Given the description of an element on the screen output the (x, y) to click on. 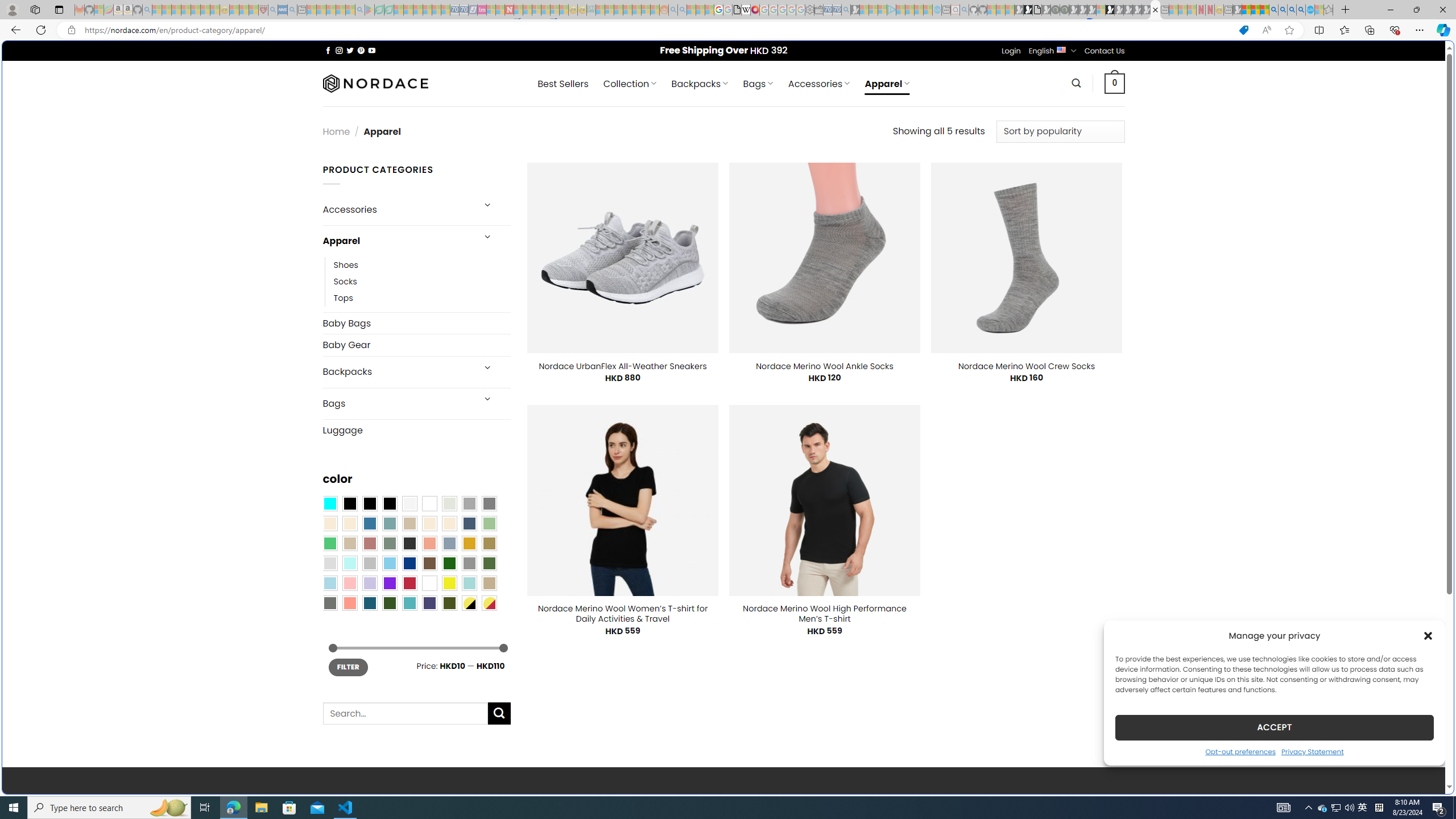
Blue Sage (389, 522)
Terms of Use Agreement - Sleeping (378, 9)
Emerald Green (329, 542)
MSN - Sleeping (1236, 9)
Light Blue (329, 582)
Beige (329, 522)
Yellow-Black (468, 602)
utah sues federal government - Search (922, 389)
